Given the description of an element on the screen output the (x, y) to click on. 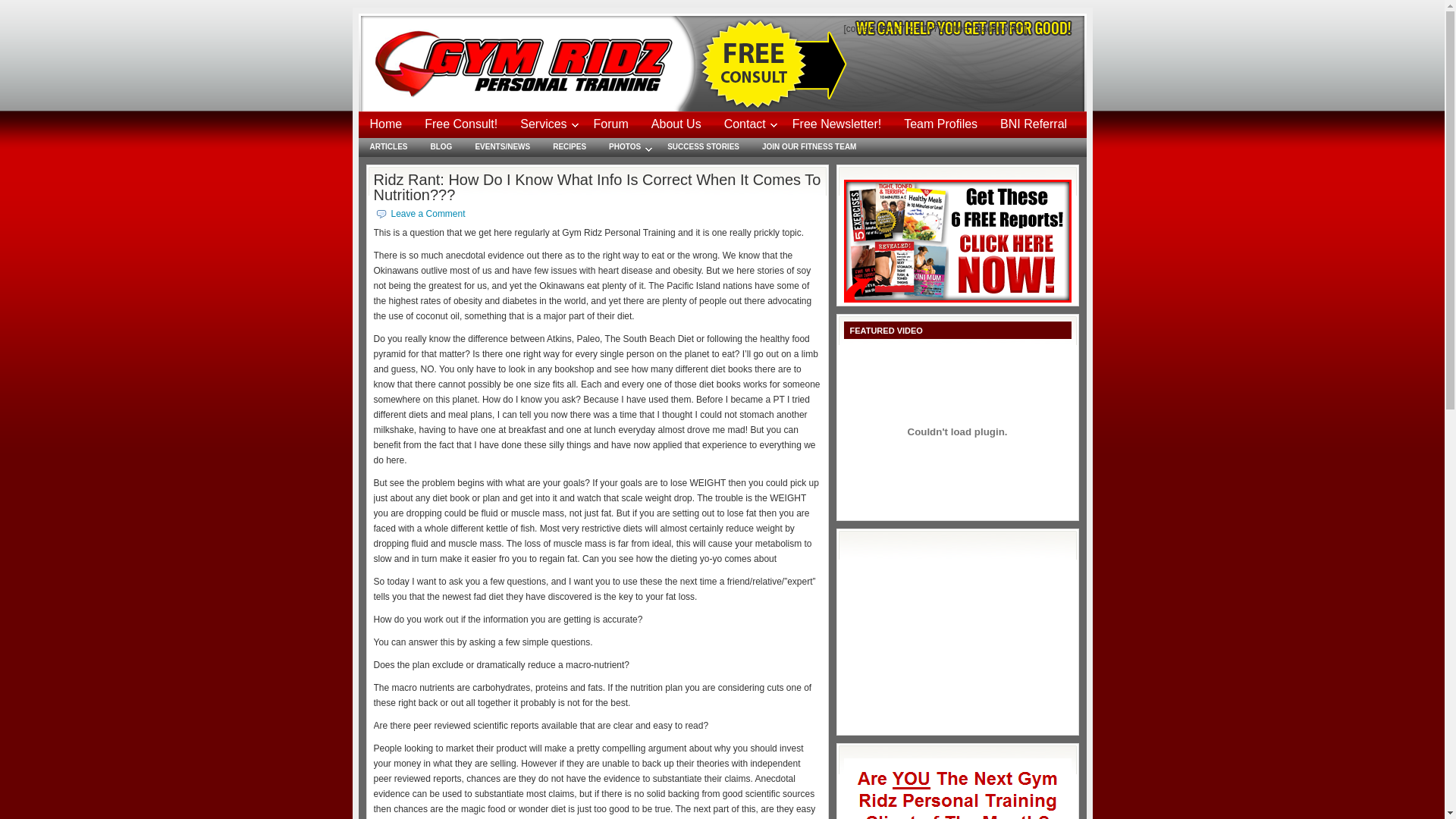
Home Element type: text (385, 124)
Forum Element type: text (611, 124)
BLOG Element type: text (440, 147)
Free Newsletter! Element type: text (836, 124)
About Us Element type: text (676, 124)
Leave a Comment Element type: text (428, 213)
RECIPES Element type: text (569, 147)
SUCCESS STORIES Element type: text (702, 147)
Team Profiles Element type: text (940, 124)
EVENTS/NEWS Element type: text (502, 147)
JOIN OUR FITNESS TEAM Element type: text (808, 147)
ARTICLES Element type: text (387, 147)
Free Consult! Element type: text (460, 124)
Gym Ridz Element type: text (531, 62)
BNI Referral Element type: text (1033, 124)
